Given the description of an element on the screen output the (x, y) to click on. 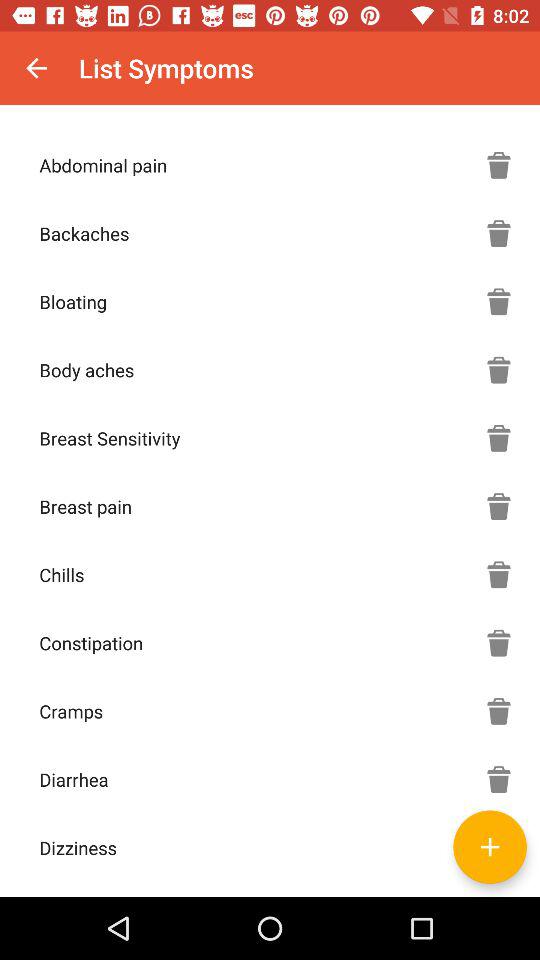
remove symptom (499, 301)
